Given the description of an element on the screen output the (x, y) to click on. 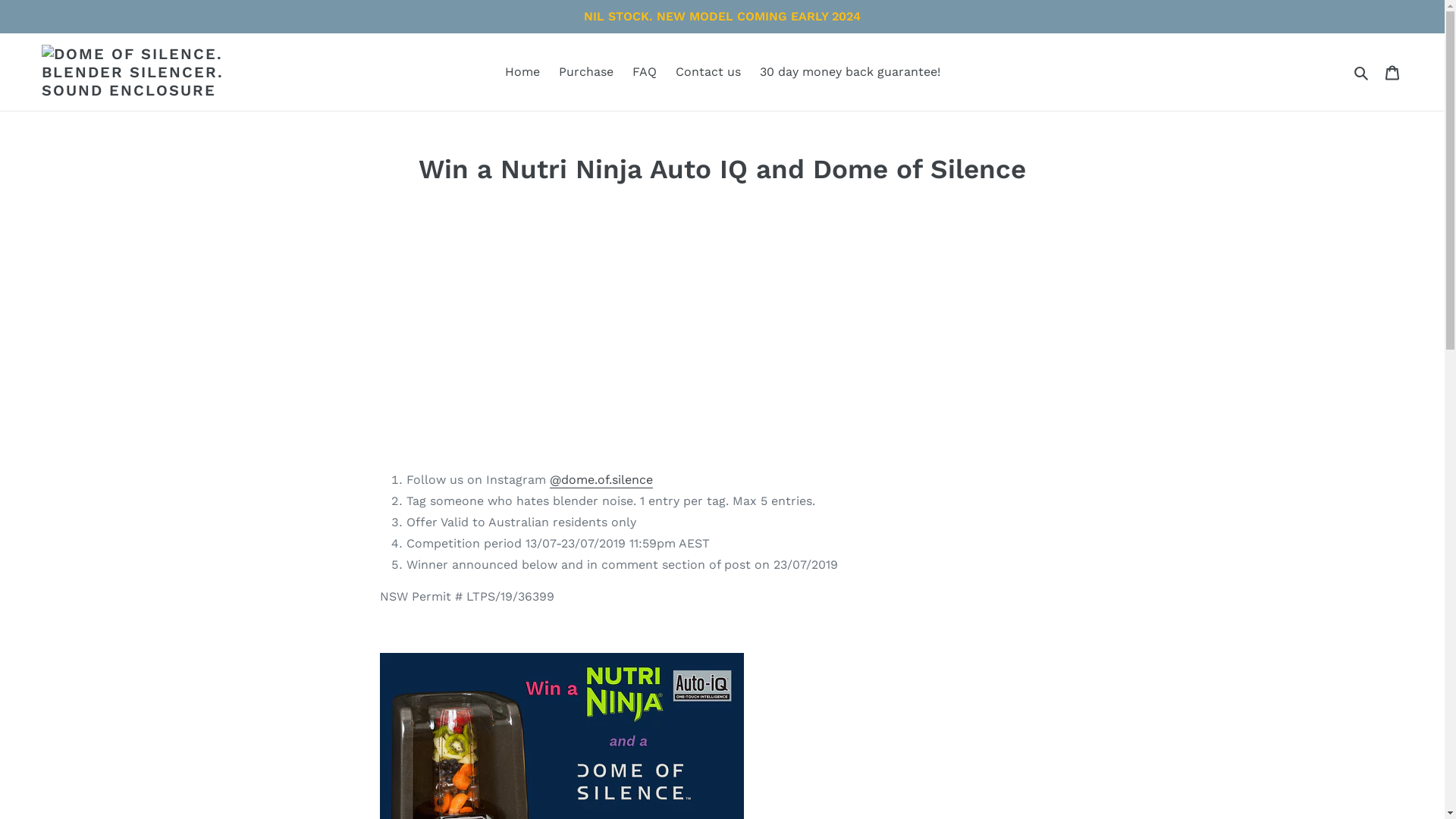
Home Element type: text (522, 71)
30 day money back guarantee! Element type: text (849, 71)
Cart Element type: text (1393, 71)
Contact us Element type: text (707, 71)
Submit Element type: text (1362, 71)
@dome.of.silence Element type: text (600, 480)
FAQ Element type: text (644, 71)
Purchase Element type: text (585, 71)
